Given the description of an element on the screen output the (x, y) to click on. 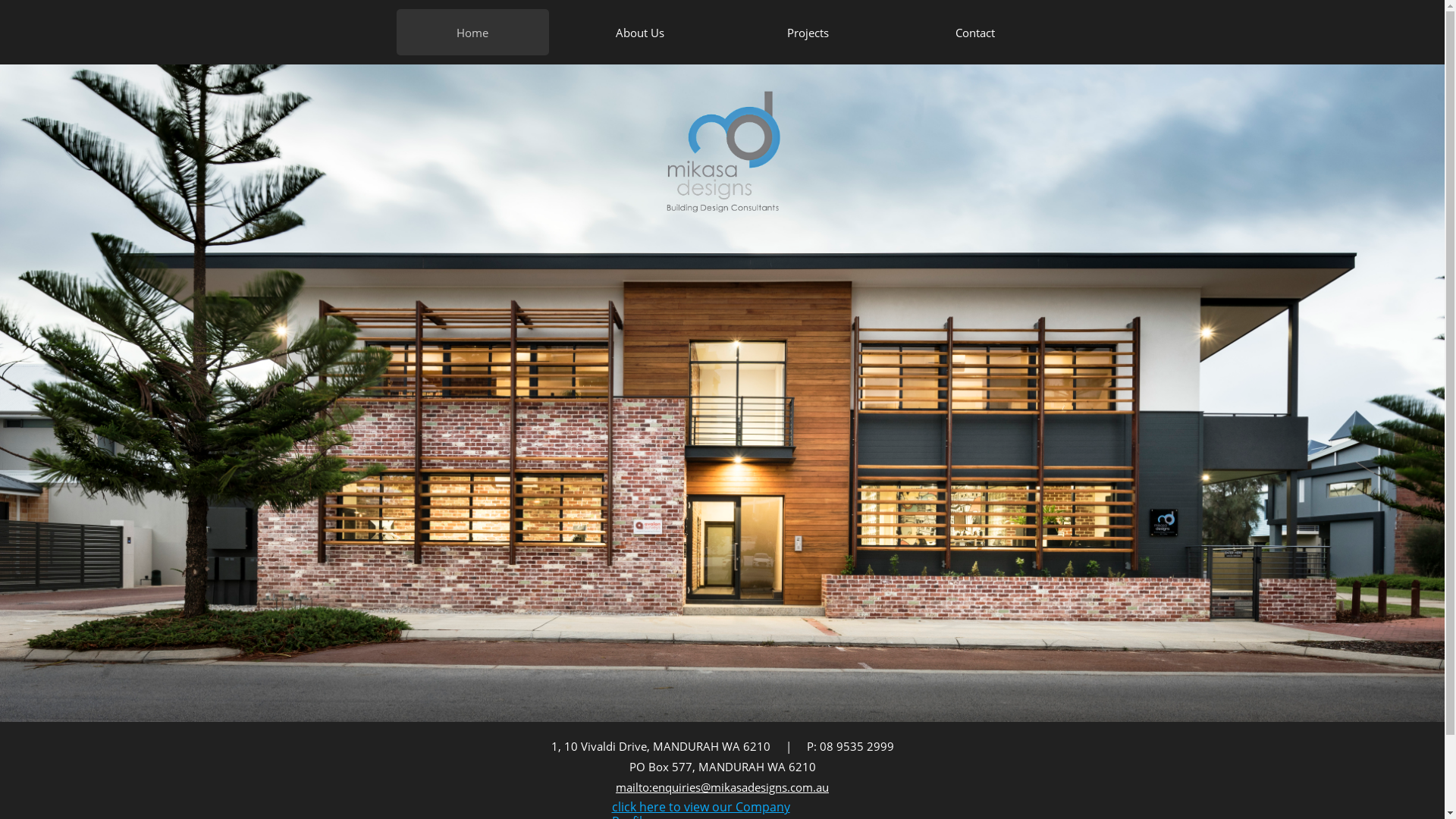
Contact Element type: text (975, 32)
Projects Element type: text (807, 32)
Home Element type: text (471, 32)
About Us Element type: text (640, 32)
mailto:enquiries@mikasadesigns.com.au Element type: text (721, 786)
